Given the description of an element on the screen output the (x, y) to click on. 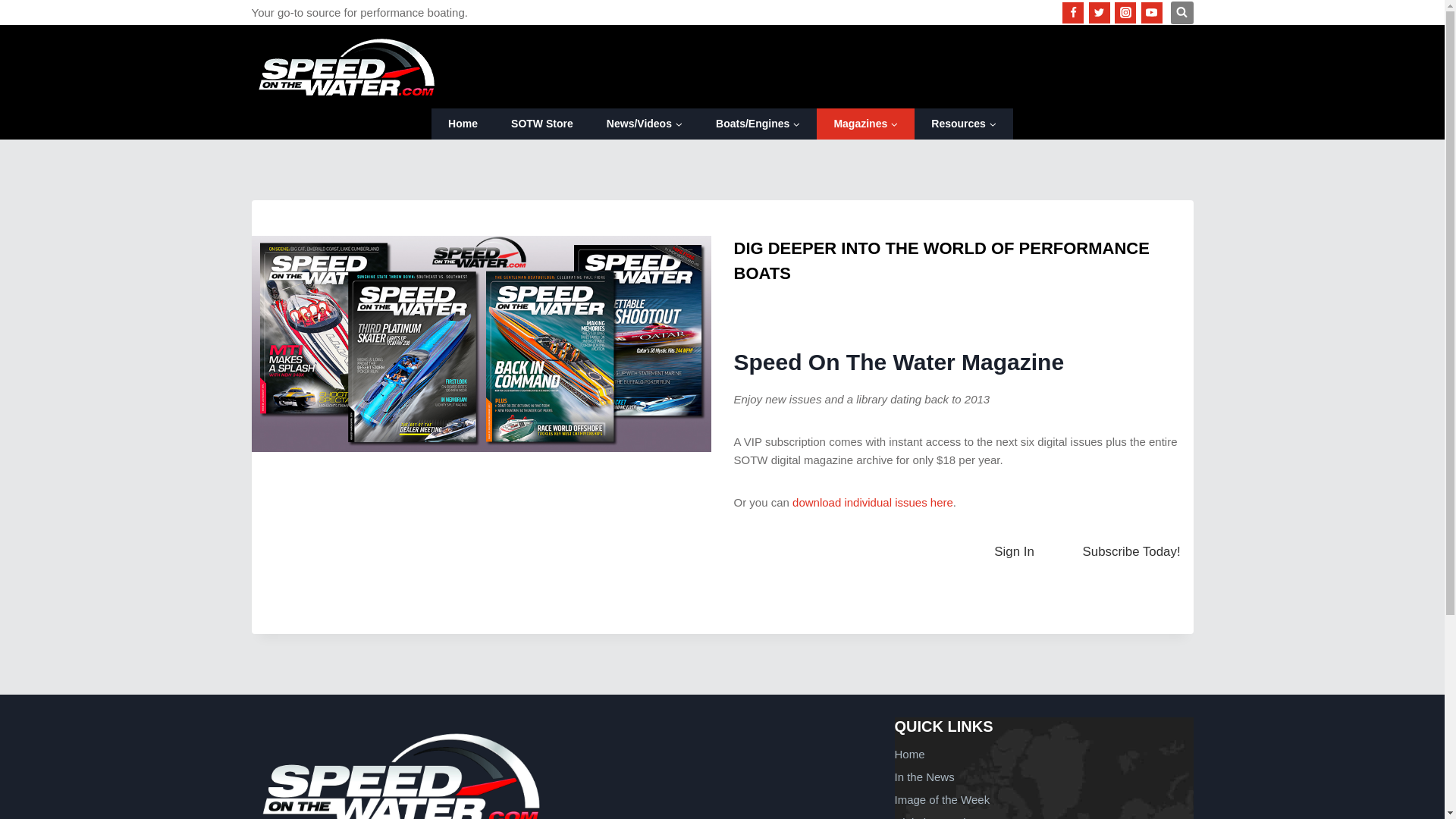
Home (462, 123)
Resources (963, 123)
Magazines (865, 123)
SOTW Store (542, 123)
